Given the description of an element on the screen output the (x, y) to click on. 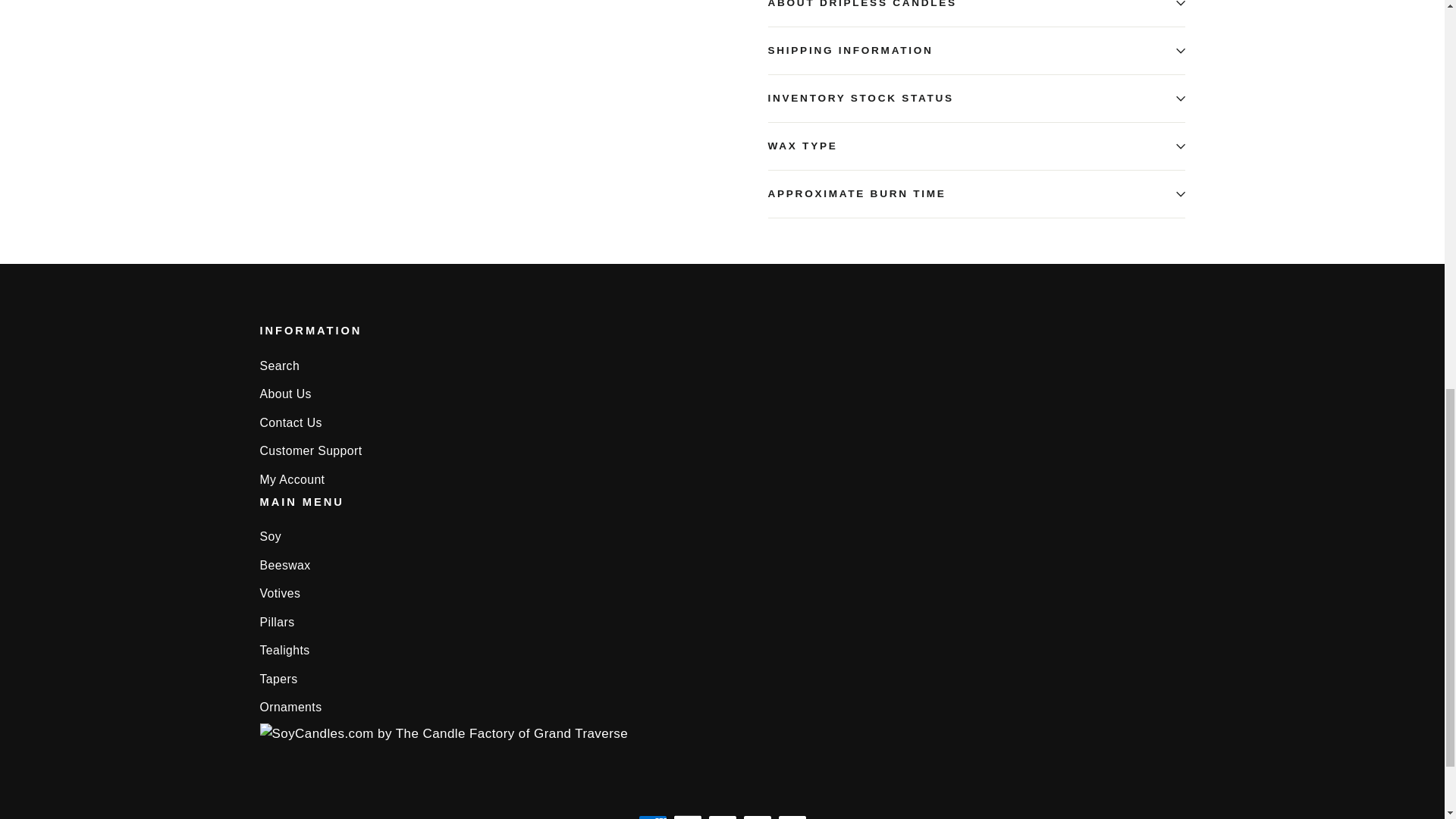
Discover (721, 816)
American Express (652, 816)
Apple Pay (686, 816)
Visa (791, 816)
Mastercard (756, 816)
